Given the description of an element on the screen output the (x, y) to click on. 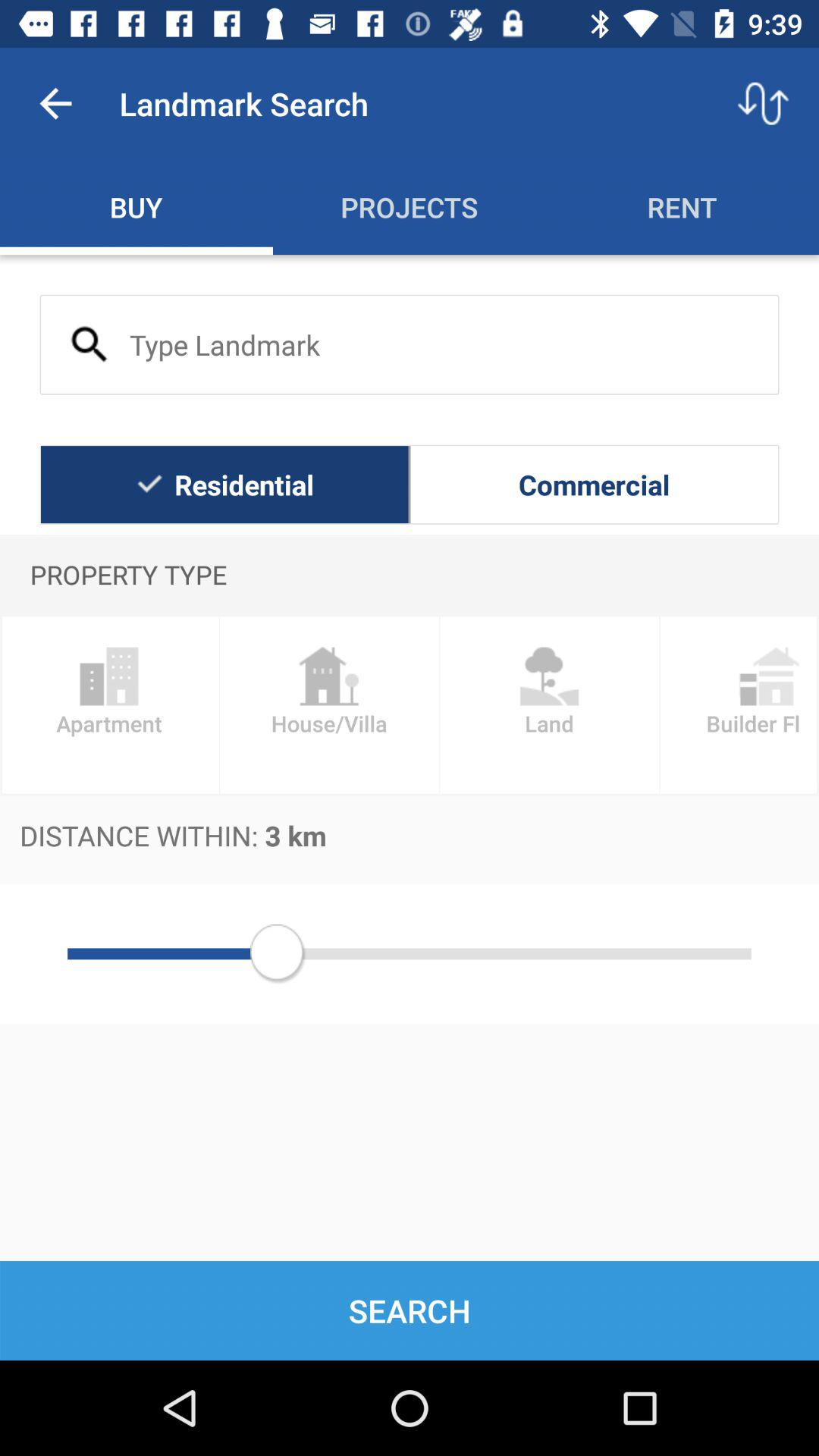
select the app to the right of landmark search (763, 103)
